Given the description of an element on the screen output the (x, y) to click on. 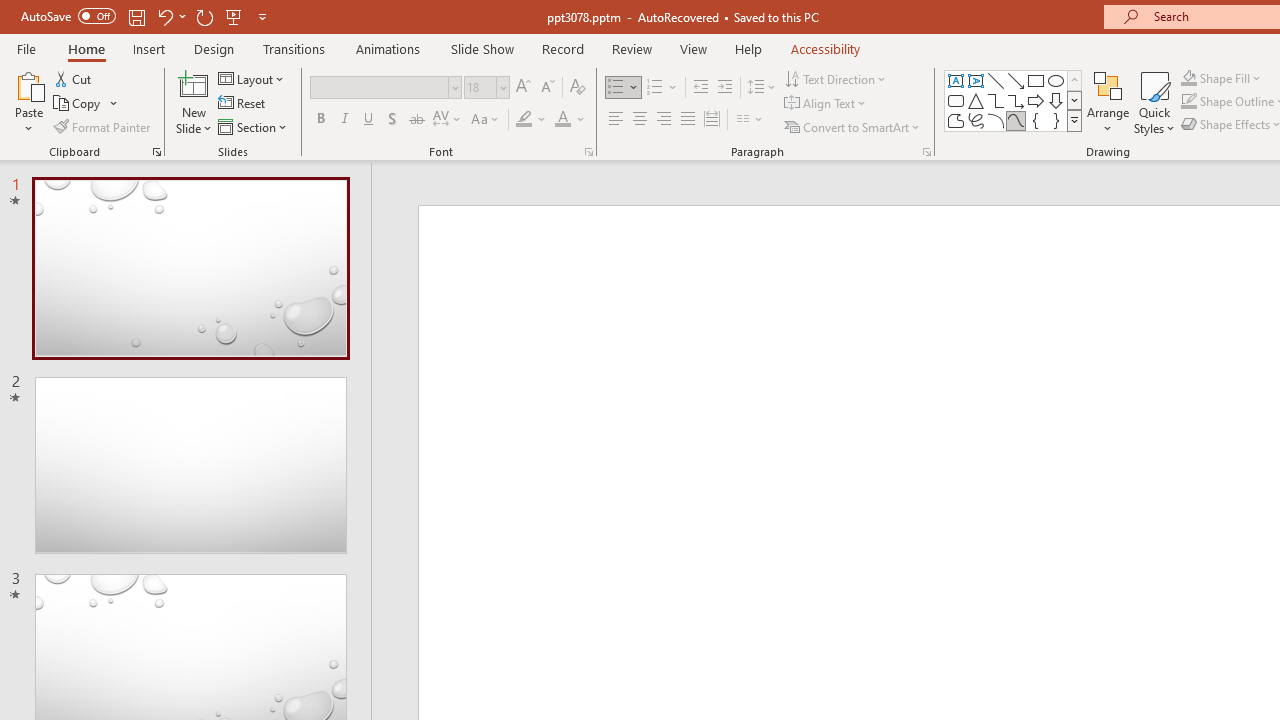
Justify (687, 119)
Decrease Indent (700, 87)
Section (254, 126)
Freeform: Scribble (975, 120)
Underline (369, 119)
Line Spacing (762, 87)
Italic (344, 119)
